Given the description of an element on the screen output the (x, y) to click on. 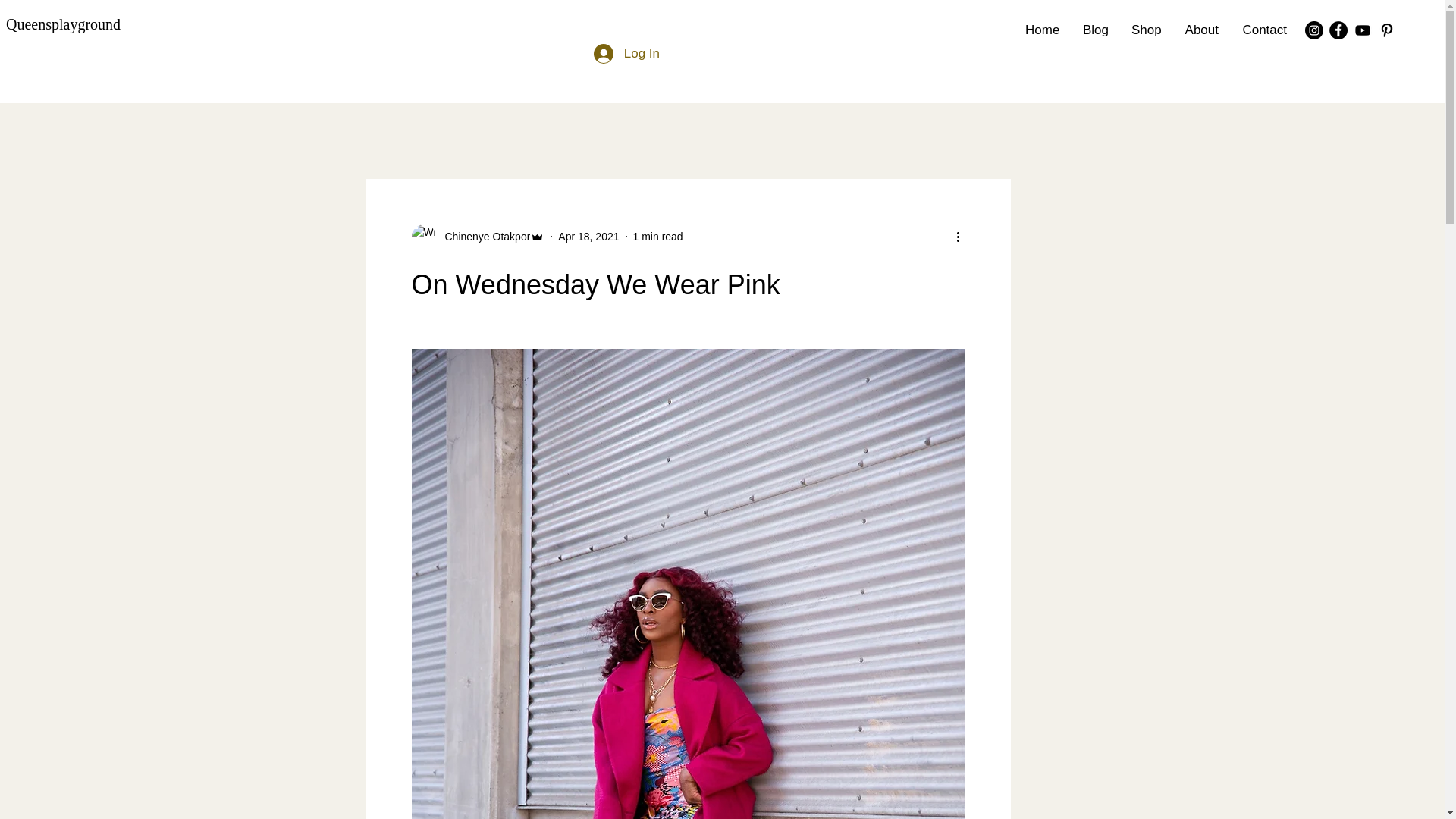
Queensplayground (62, 23)
Contact (1264, 30)
About (1201, 30)
Shop (1145, 30)
Log In (626, 53)
Apr 18, 2021 (587, 236)
Blog (1094, 30)
Chinenye Otakpor (477, 236)
1 min read (657, 236)
Chinenye Otakpor (482, 236)
Home (1041, 30)
